Given the description of an element on the screen output the (x, y) to click on. 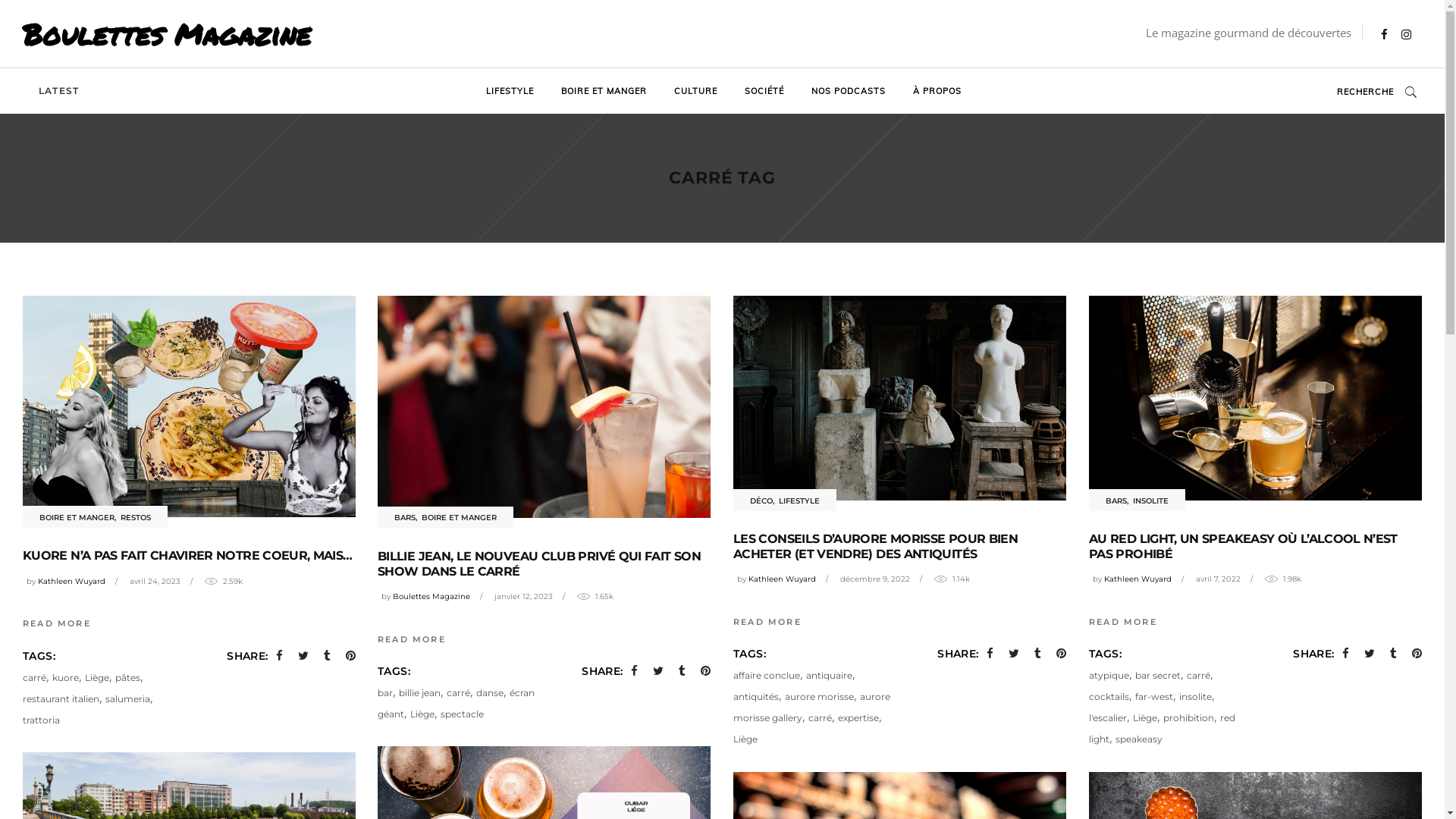
danse Element type: text (489, 692)
far-west Element type: text (1154, 696)
BARS Element type: text (404, 517)
Kathleen Wuyard Element type: text (71, 581)
insolite Element type: text (1195, 696)
LIFESTYLE Element type: text (509, 90)
janvier 12, 2023 Element type: text (523, 596)
RESTOS Element type: text (135, 517)
billie jean Element type: text (419, 692)
READ MORE Element type: text (767, 620)
Kathleen Wuyard Element type: text (781, 578)
READ MORE Element type: text (56, 623)
kuore Element type: text (65, 677)
cocktails Element type: text (1108, 696)
bar Element type: text (384, 692)
antiquaire Element type: text (829, 674)
INSOLITE Element type: text (1150, 500)
aurore morisse gallery Element type: text (811, 706)
READ MORE Element type: text (1122, 620)
l'escalier Element type: text (1107, 717)
BARS Element type: text (1115, 500)
LIFESTYLE Element type: text (798, 500)
red light Element type: text (1161, 728)
NOS PODCASTS Element type: text (848, 90)
salumeria Element type: text (127, 698)
avril 24, 2023 Element type: text (154, 581)
trattoria Element type: text (40, 719)
atypique Element type: text (1108, 674)
BOIRE ET MANGER Element type: text (458, 517)
Boulettes Magazine Element type: text (431, 596)
bar secret Element type: text (1157, 674)
RECHERCHE Element type: text (1376, 92)
aurore morisse Element type: text (818, 696)
prohibition Element type: text (1188, 717)
Kathleen Wuyard Element type: text (1137, 578)
spectacle Element type: text (461, 713)
expertise Element type: text (857, 717)
affaire conclue Element type: text (766, 674)
LATEST Element type: text (58, 90)
READ MORE Element type: text (411, 638)
CULTURE Element type: text (695, 90)
avril 7, 2022 Element type: text (1217, 578)
restaurant italien Element type: text (60, 698)
Boulettes Magazine Element type: text (166, 33)
BOIRE ET MANGER Element type: text (603, 90)
speakeasy Element type: text (1138, 738)
BOIRE ET MANGER Element type: text (76, 517)
